Given the description of an element on the screen output the (x, y) to click on. 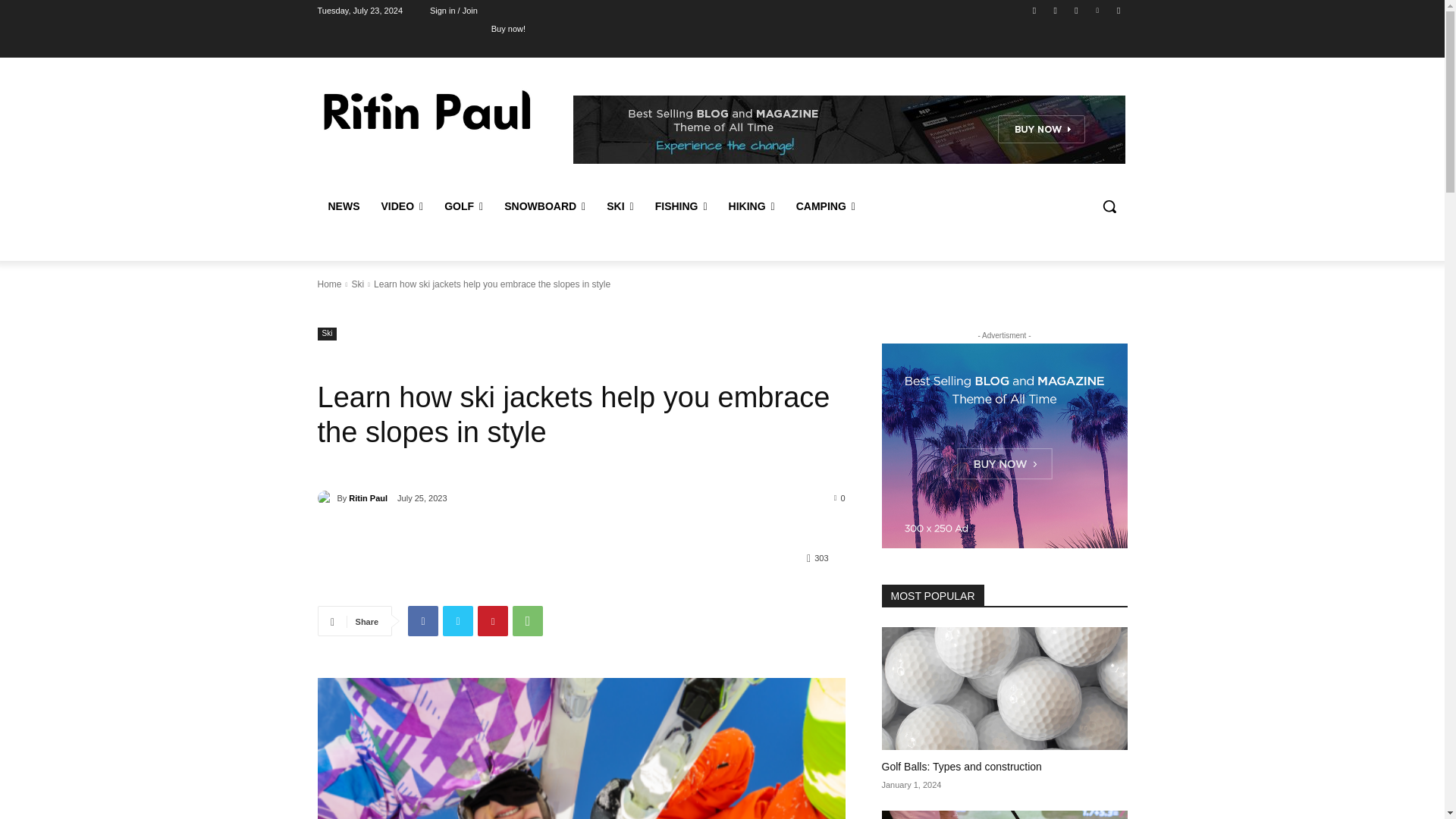
Buy now! (508, 28)
Facebook (1034, 9)
NEWS (343, 206)
Instagram (1055, 9)
Vimeo (1097, 9)
VIDEO (401, 206)
Twitter (1075, 9)
Youtube (1117, 9)
GOLF (463, 206)
